Given the description of an element on the screen output the (x, y) to click on. 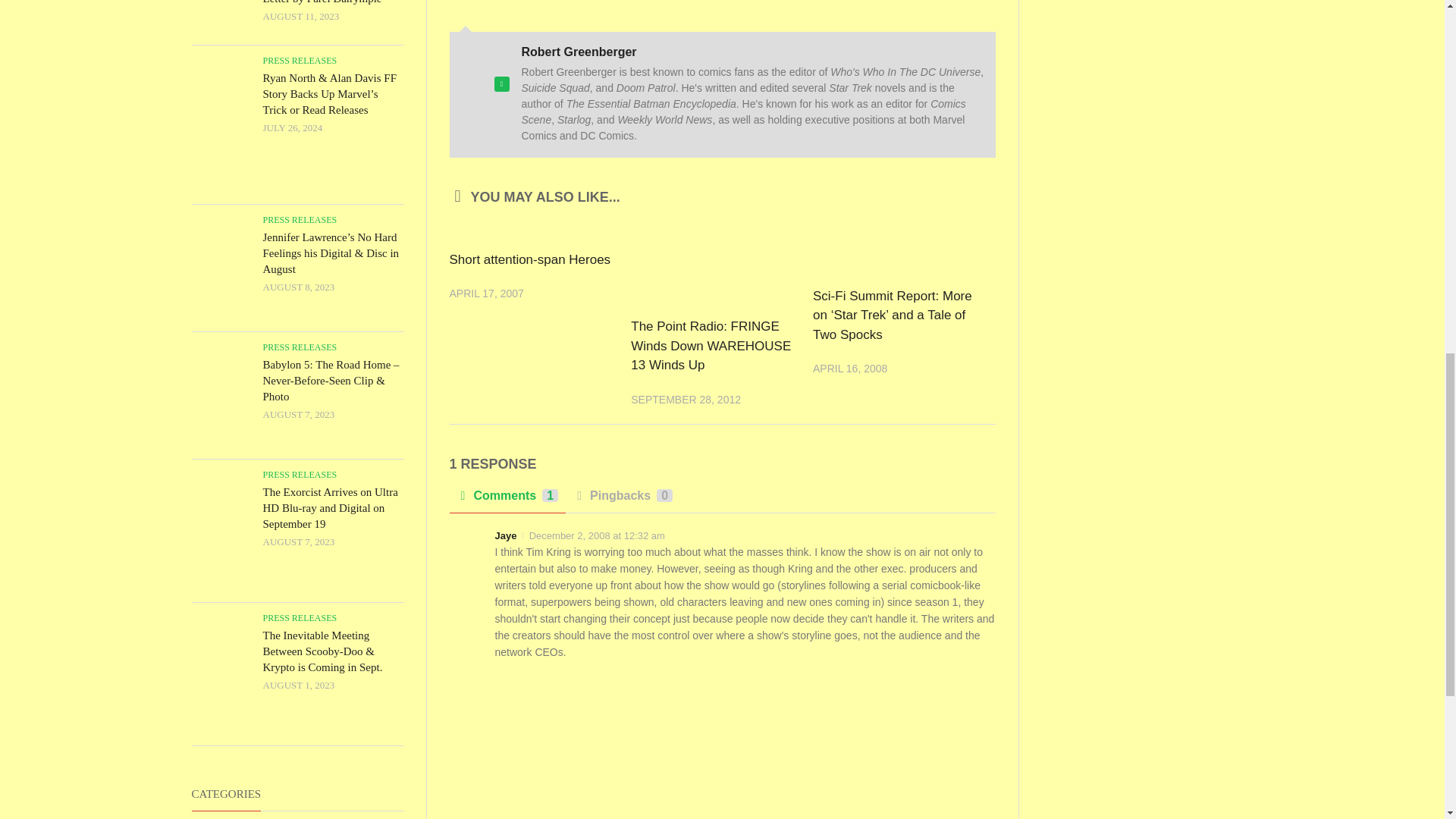
Short attention-span Heroes (529, 259)
The Point Radio: FRINGE Winds Down WAREHOUSE 13 Winds Up (710, 345)
